Given the description of an element on the screen output the (x, y) to click on. 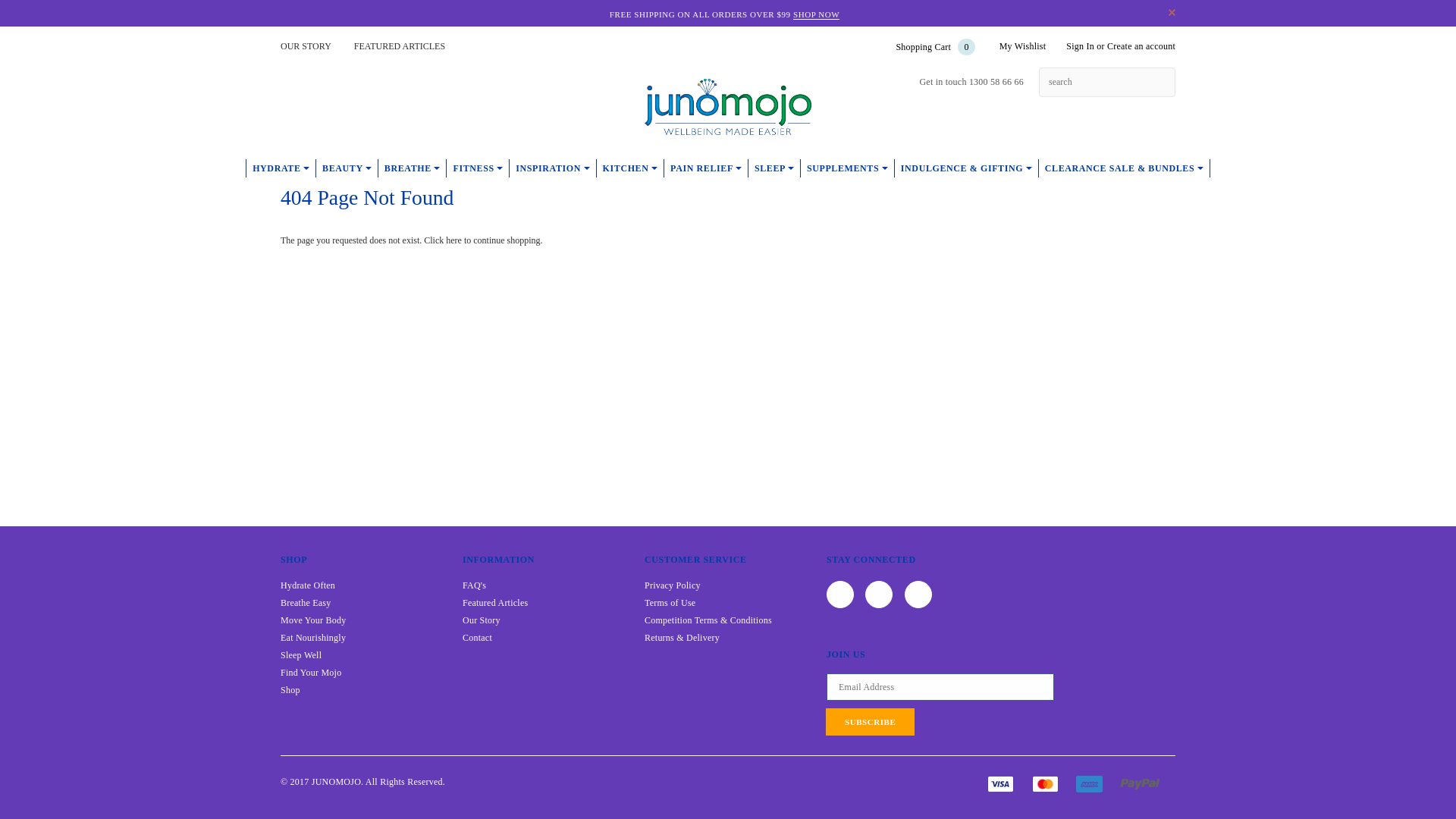
BEAUTY Element type: text (347, 168)
INDULGENCE & GIFTING Element type: text (966, 168)
FITNESS Element type: text (477, 168)
PAIN RELIEF Element type: text (706, 168)
Contact Element type: text (477, 637)
Hydrate Often Element type: text (307, 585)
HYDRATE Element type: text (280, 168)
Instagram Element type: hover (332, 80)
Facebook Element type: hover (293, 80)
Facebook Element type: hover (839, 594)
Instagram Element type: hover (878, 594)
Eat Nourishingly Element type: text (312, 637)
Find Your Mojo Element type: text (310, 672)
KITCHEN Element type: text (630, 168)
FEATURED ARTICLES Element type: text (399, 45)
Breathe Easy Element type: text (305, 602)
BREATHE Element type: text (412, 168)
CLOSE Element type: text (1171, 12)
Featured Articles Element type: text (494, 602)
Subscribe Element type: text (869, 721)
My Wishlist Element type: text (1022, 45)
Terms of Use Element type: text (669, 602)
SLEEP Element type: text (774, 168)
SHOP NOW Element type: text (816, 14)
Returns & Delivery Element type: text (681, 637)
Sign In Element type: text (1080, 45)
Click here Element type: text (443, 240)
SUPPLEMENTS Element type: text (847, 168)
Pinterest Element type: hover (917, 594)
Shop Element type: text (290, 689)
Sleep Well Element type: text (300, 654)
OUR STORY Element type: text (305, 45)
Move Your Body Element type: text (312, 620)
CLEARANCE SALE & BUNDLES Element type: text (1124, 168)
Competition Terms & Conditions Element type: text (707, 620)
Create an account Element type: text (1141, 45)
Privacy Policy Element type: text (672, 585)
Shopping Cart 0 Element type: text (932, 46)
INSPIRATION Element type: text (552, 168)
Our Story Element type: text (481, 620)
FAQ's Element type: text (474, 585)
Pinterest Element type: hover (371, 80)
